Given the description of an element on the screen output the (x, y) to click on. 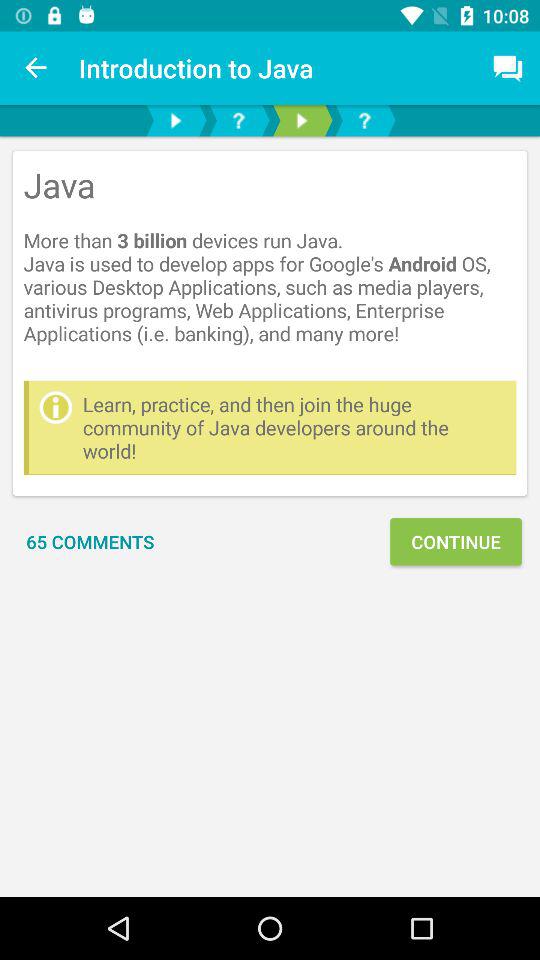
press play (175, 120)
